Given the description of an element on the screen output the (x, y) to click on. 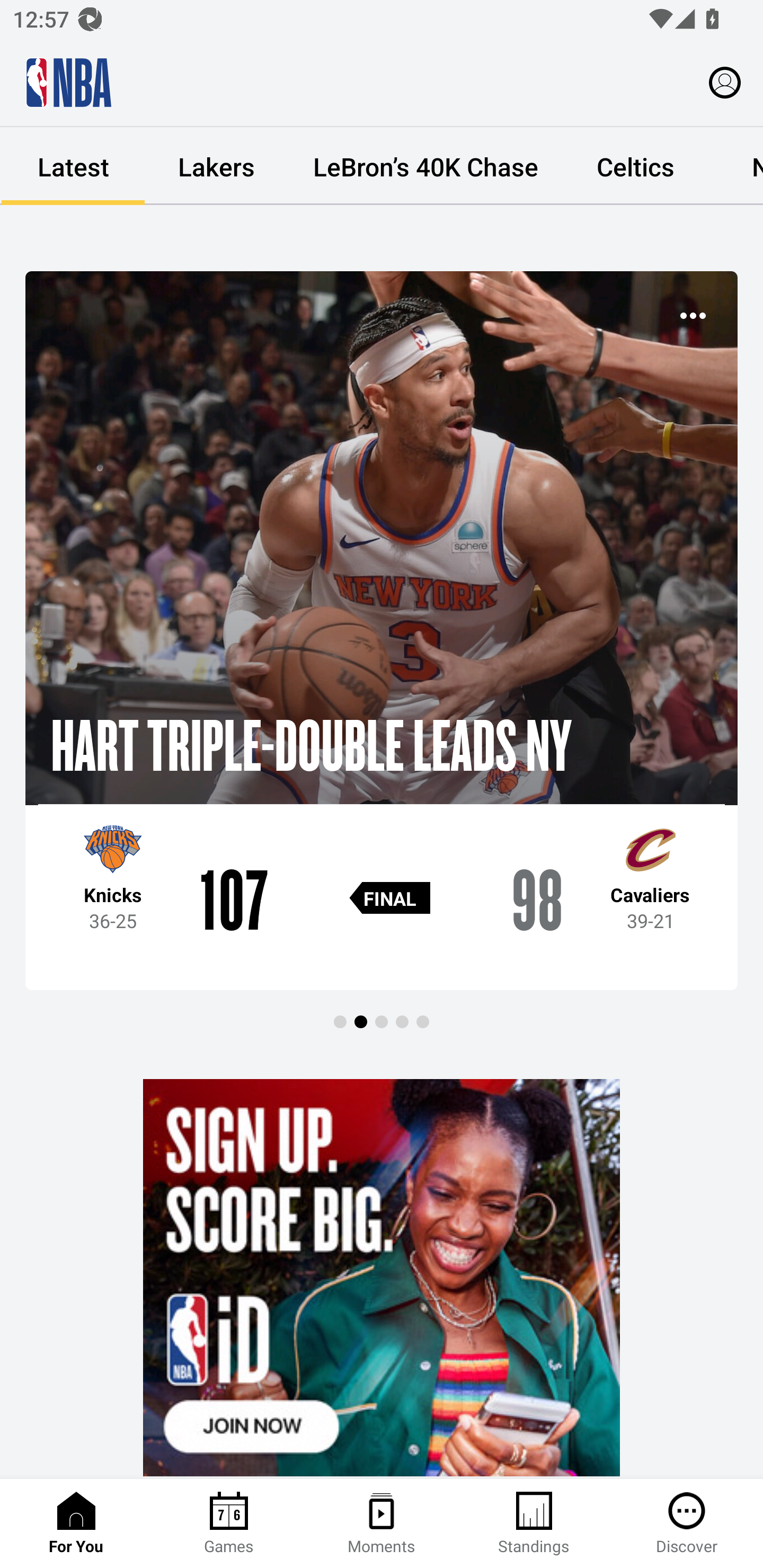
Profile (724, 81)
Lakers (215, 166)
LeBron’s 40K Chase (425, 166)
Celtics (634, 166)
Games (228, 1523)
Moments (381, 1523)
Standings (533, 1523)
Discover (686, 1523)
